Given the description of an element on the screen output the (x, y) to click on. 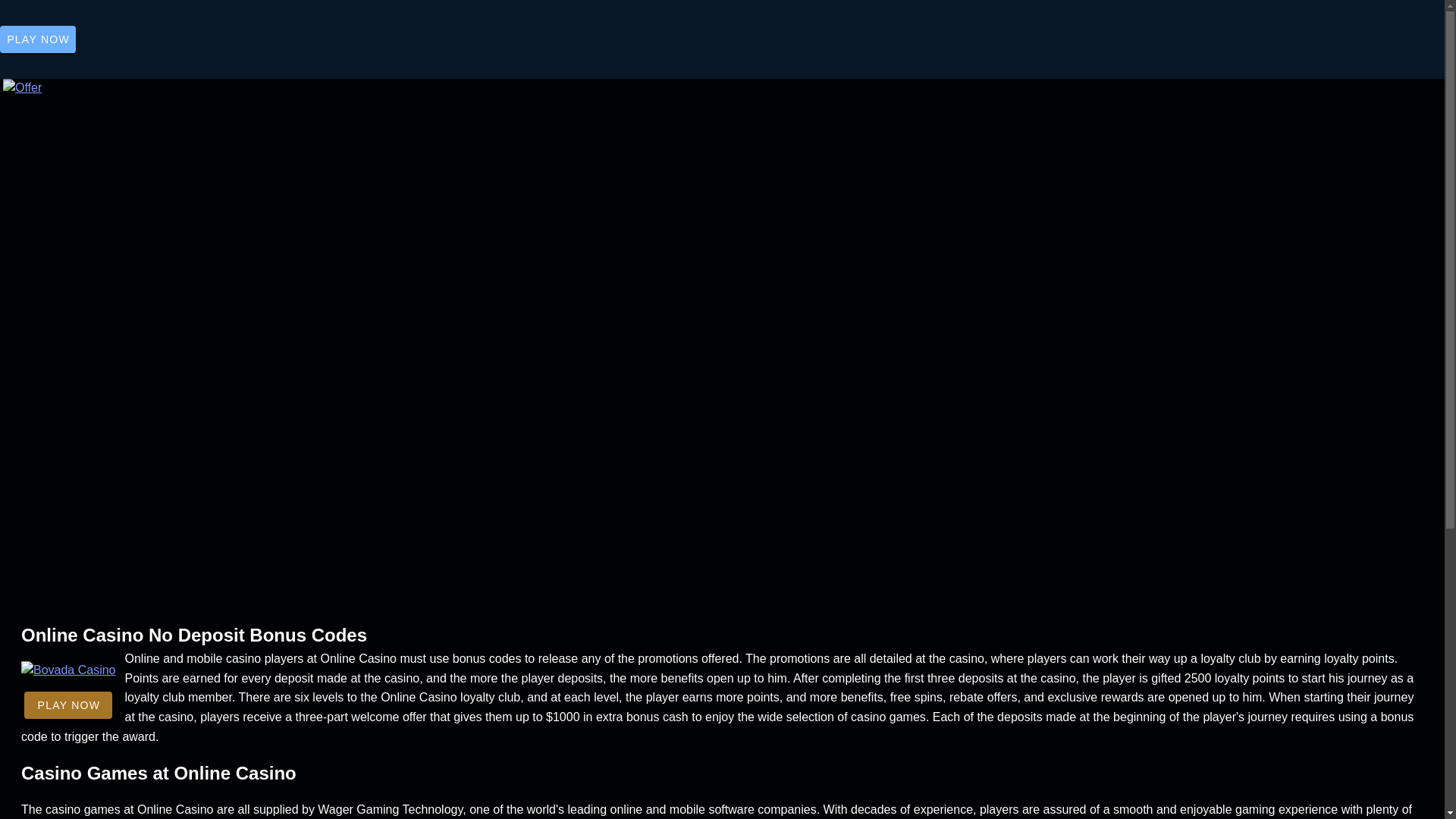
PLAY NOW (68, 705)
PLAY NOW (37, 39)
